Given the description of an element on the screen output the (x, y) to click on. 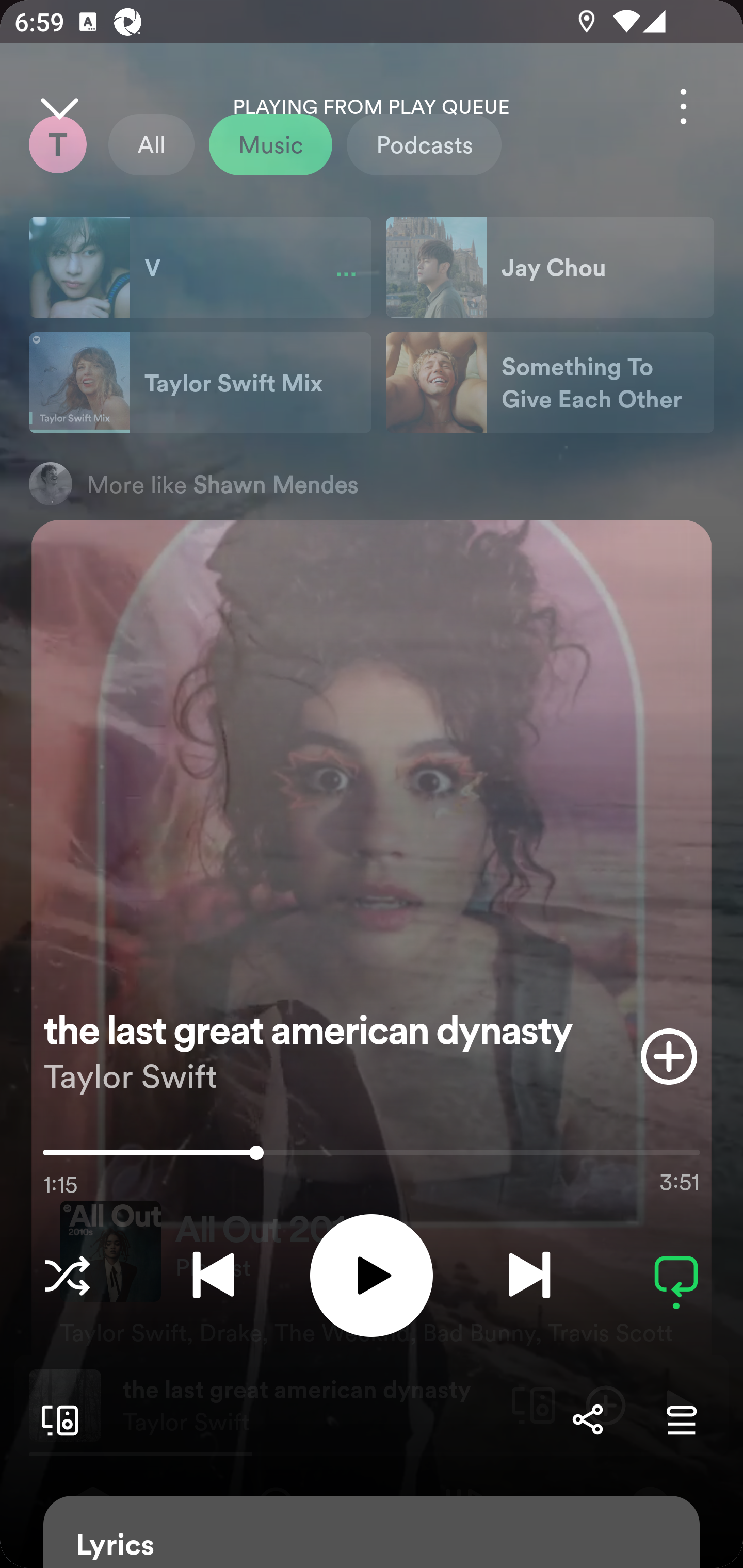
Close (59, 106)
PLAYING FROM PLAY QUEUE (371, 107)
Add item (669, 1056)
1:15 3:51 75041.0 Use volume keys to adjust (371, 1157)
Play (371, 1275)
Previous (212, 1275)
Next (529, 1275)
Choose a Listening Mode (66, 1275)
Repeat (676, 1275)
Share (587, 1419)
Go to Queue (681, 1419)
Connect to a device. Opens the devices menu (55, 1419)
Lyrics (371, 1531)
